Given the description of an element on the screen output the (x, y) to click on. 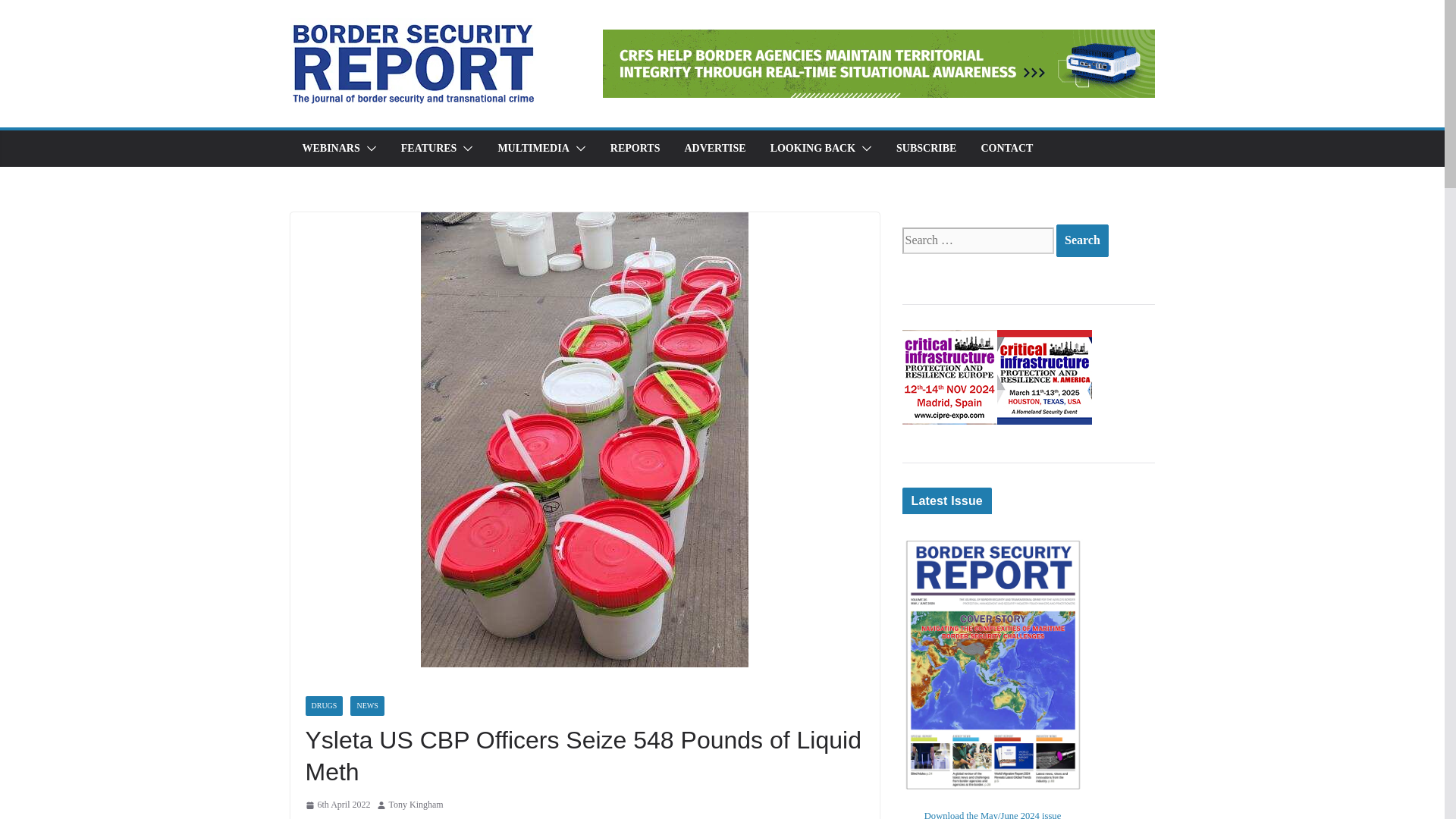
6th April 2022 (336, 805)
Tony Kingham (416, 805)
SUBSCRIBE (926, 148)
NEWS (367, 705)
LOOKING BACK (813, 148)
ADVERTISE (714, 148)
WEBINARS (330, 148)
REPORTS (635, 148)
CONTACT (1005, 148)
DRUGS (323, 705)
MULTIMEDIA (533, 148)
FEATURES (429, 148)
Tony Kingham (416, 805)
Search (1082, 240)
Search (1082, 240)
